Given the description of an element on the screen output the (x, y) to click on. 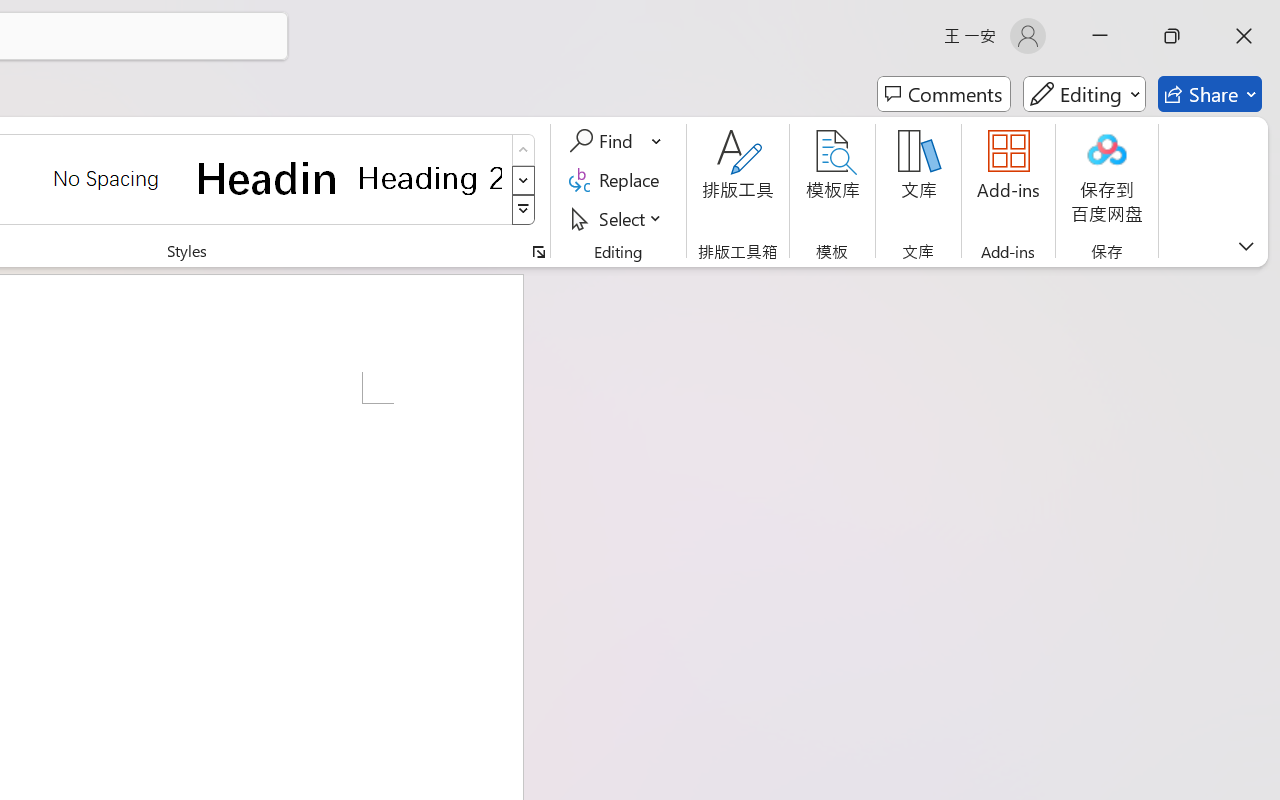
Replace... (617, 179)
